Given the description of an element on the screen output the (x, y) to click on. 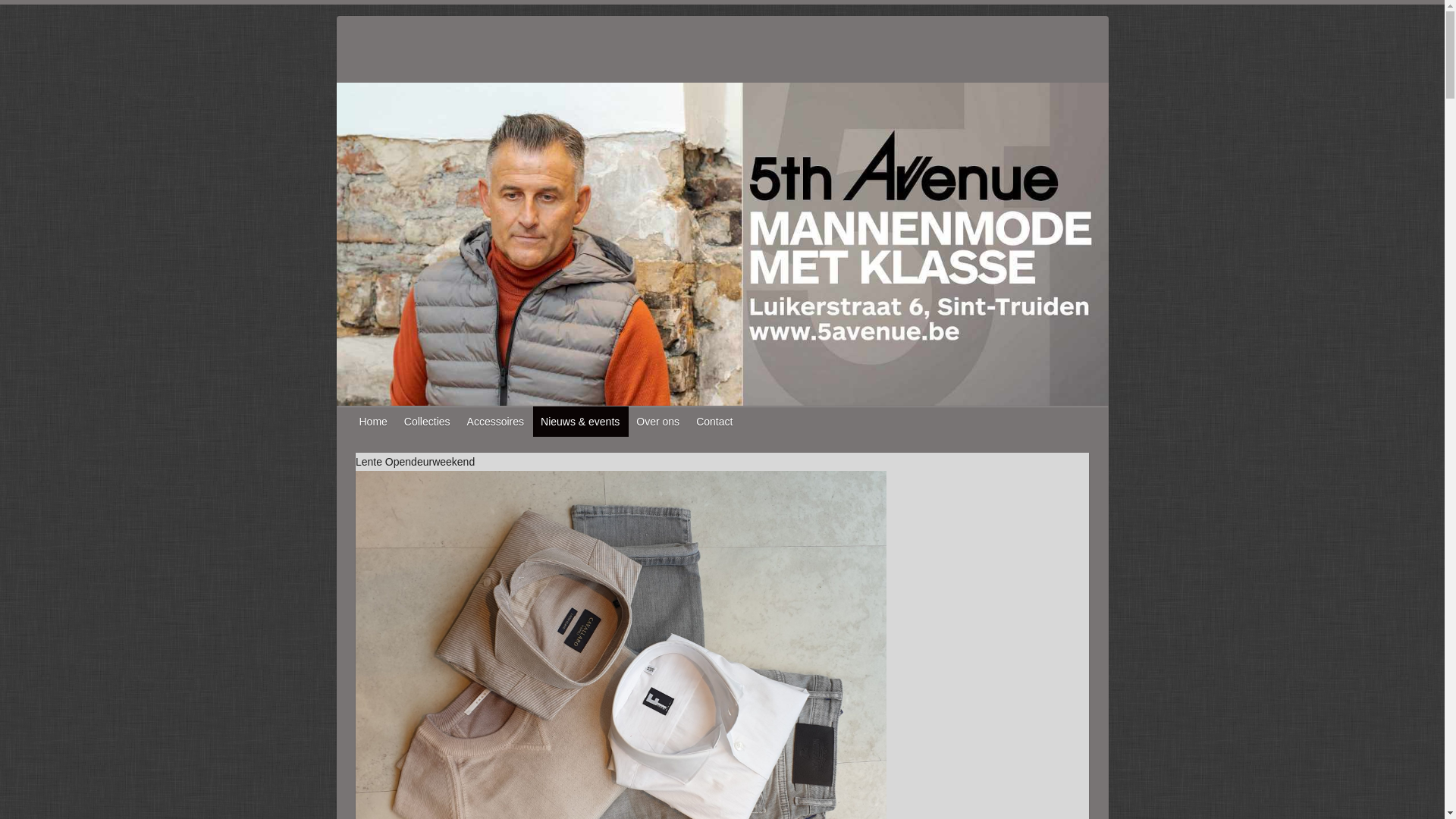
Nieuws & events Element type: text (580, 421)
Over ons Element type: text (658, 421)
Collecties Element type: text (427, 421)
Home Element type: text (373, 421)
Contact Element type: text (714, 421)
Accessoires Element type: text (496, 421)
